Given the description of an element on the screen output the (x, y) to click on. 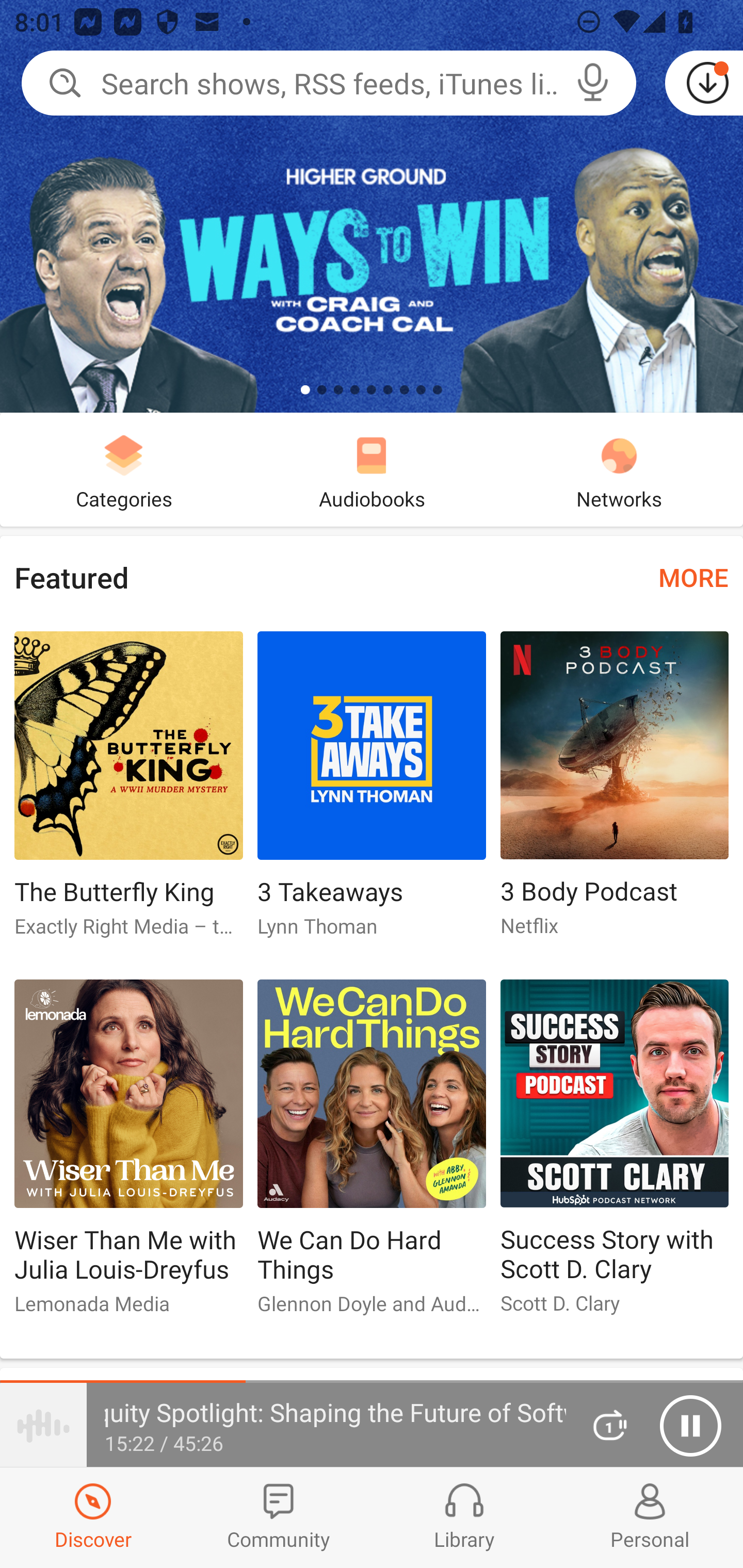
Ways To Win (371, 206)
Categories (123, 469)
Audiobooks (371, 469)
Networks (619, 469)
MORE (693, 576)
3 Takeaways 3 Takeaways Lynn Thoman (371, 792)
3 Body Podcast 3 Body Podcast Netflix (614, 792)
Pause (690, 1425)
Discover (92, 1517)
Community (278, 1517)
Library (464, 1517)
Profiles and Settings Personal (650, 1517)
